Given the description of an element on the screen output the (x, y) to click on. 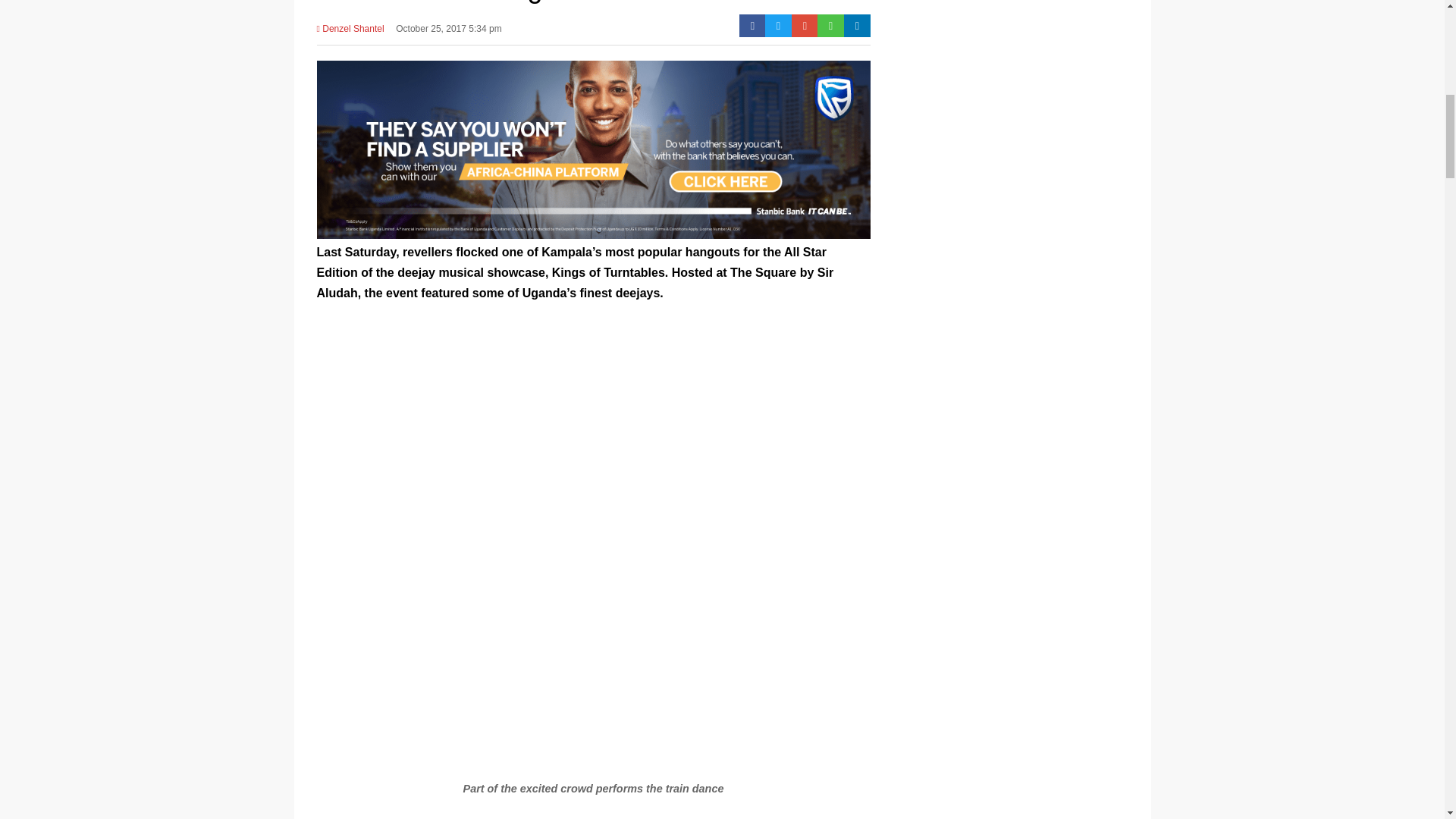
October 25, 2017 5:34 pm (448, 33)
Linkedin (857, 25)
Facebook (752, 25)
Google-plus (805, 25)
Twitter (778, 25)
Denzel Shantel (350, 33)
Whatsapp (830, 25)
